Given the description of an element on the screen output the (x, y) to click on. 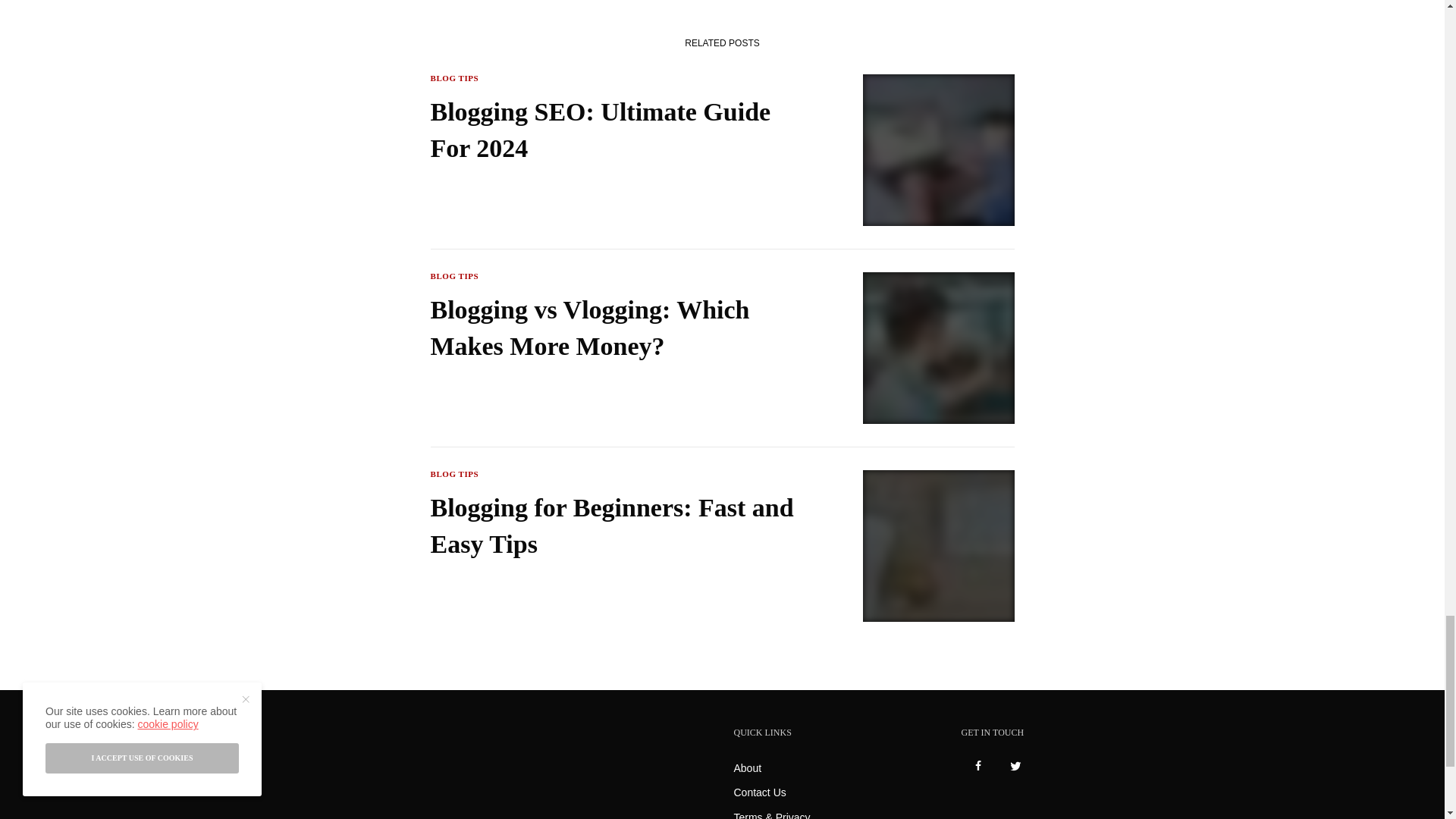
Blogging SEO: Ultimate Guide For 2024 (617, 130)
Blogging vs Vlogging: Which Makes More Money? (617, 327)
Blogging for Beginners: Fast and Easy Tips (617, 525)
